Given the description of an element on the screen output the (x, y) to click on. 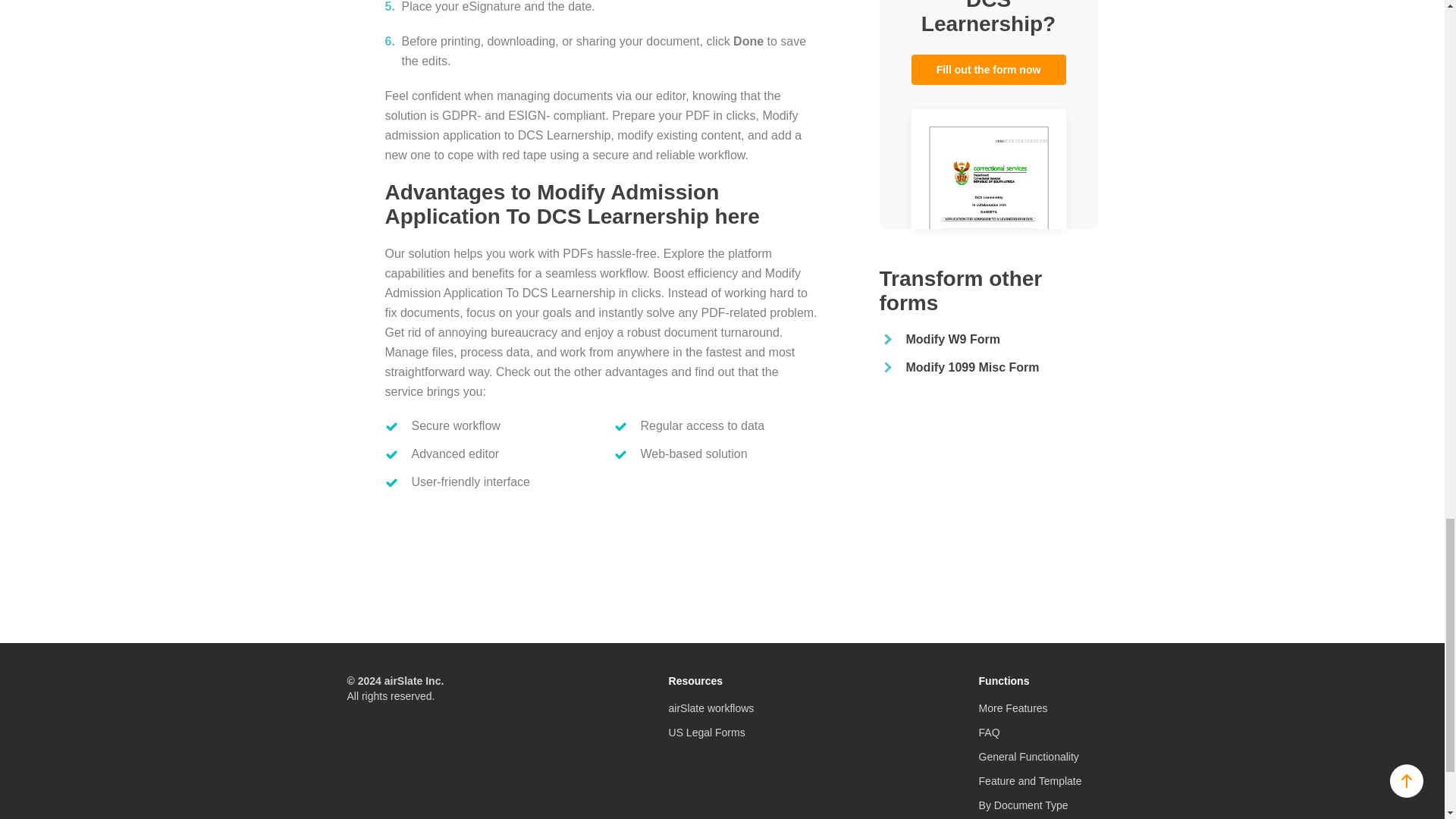
Modify 1099 Misc Form (972, 367)
General Functionality (1028, 756)
Feature and Template (1029, 780)
More Features (1013, 707)
Fill out the form now (988, 69)
airSlate workflows (711, 707)
FAQ (989, 732)
By Document Type (1023, 805)
Modify W9 Form (951, 338)
US Legal Forms (706, 732)
